Given the description of an element on the screen output the (x, y) to click on. 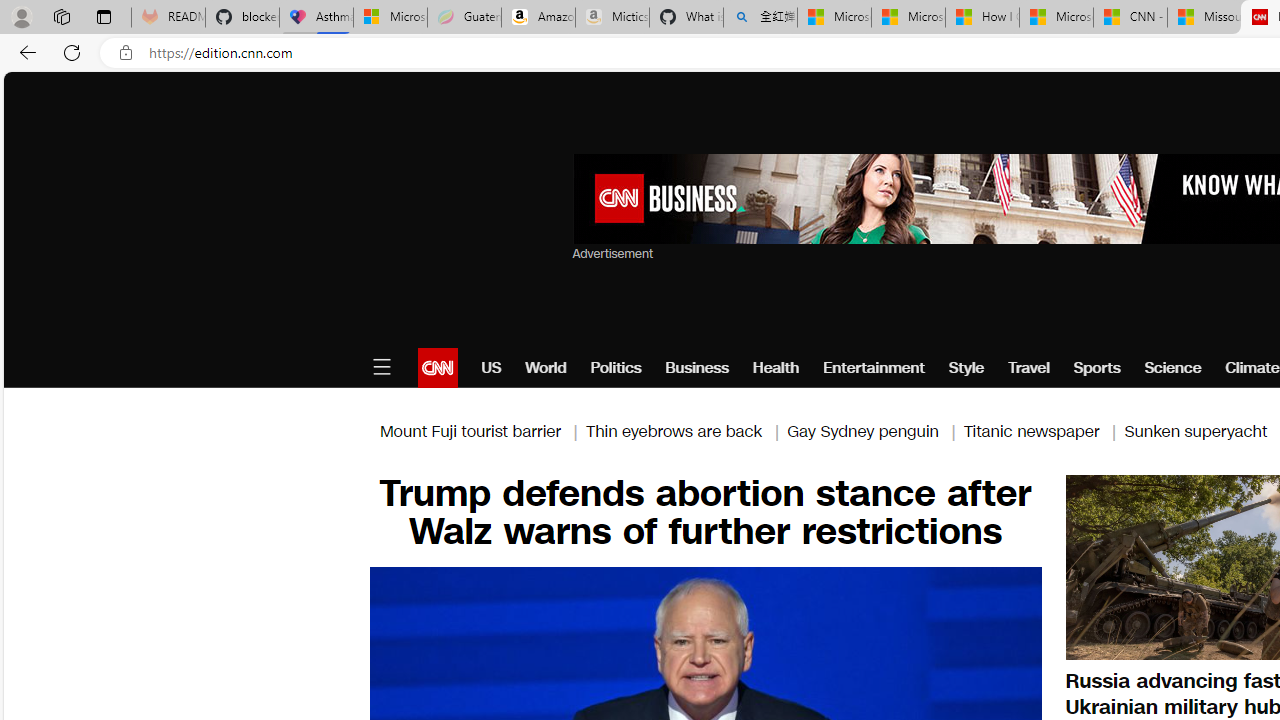
Open Menu Icon (381, 367)
How I Got Rid of Microsoft Edge's Unnecessary Features (981, 17)
Climate (1252, 367)
Style (966, 367)
CNN logo (437, 367)
Business (697, 367)
